Given the description of an element on the screen output the (x, y) to click on. 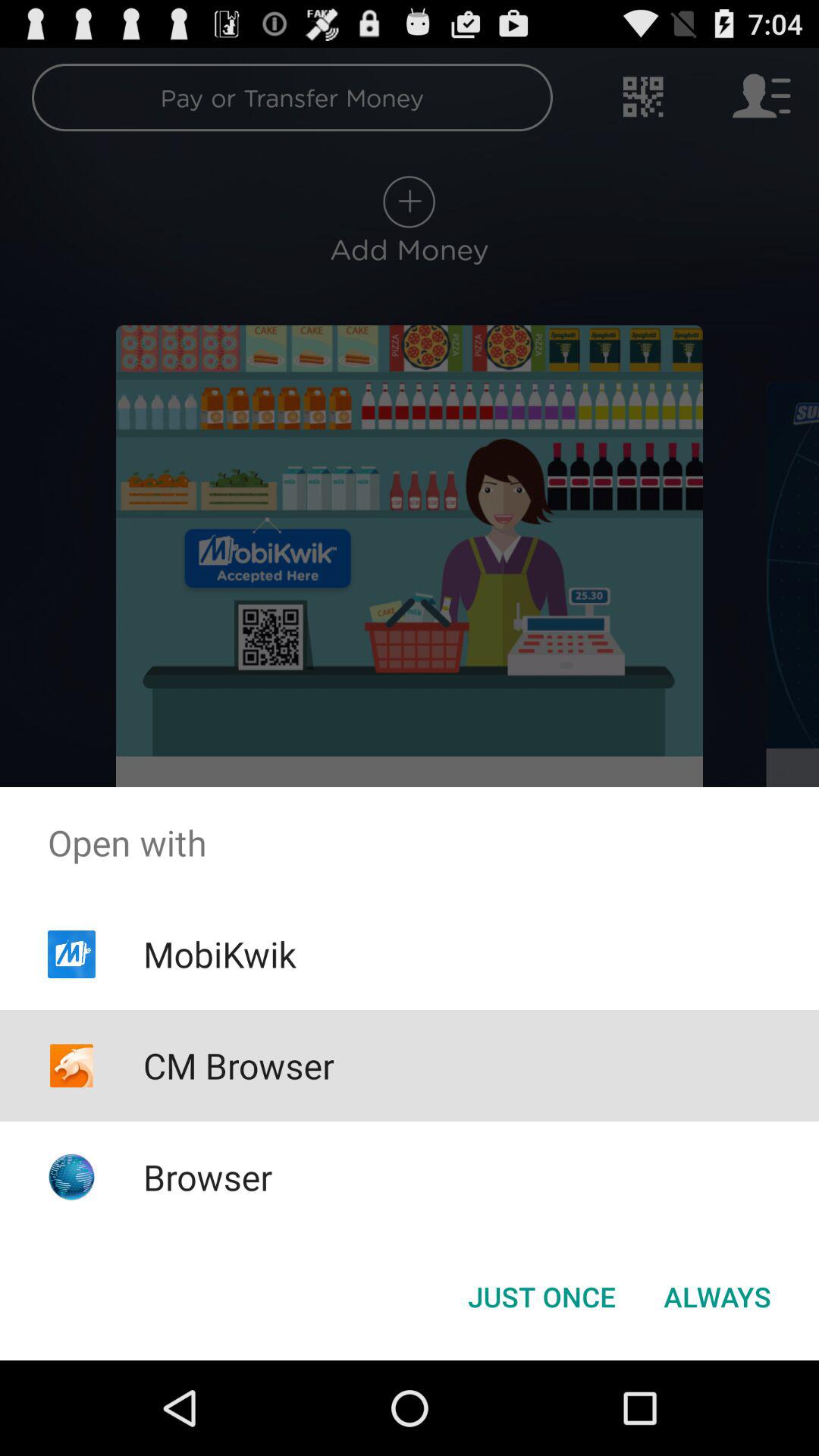
open icon below the open with item (717, 1296)
